Given the description of an element on the screen output the (x, y) to click on. 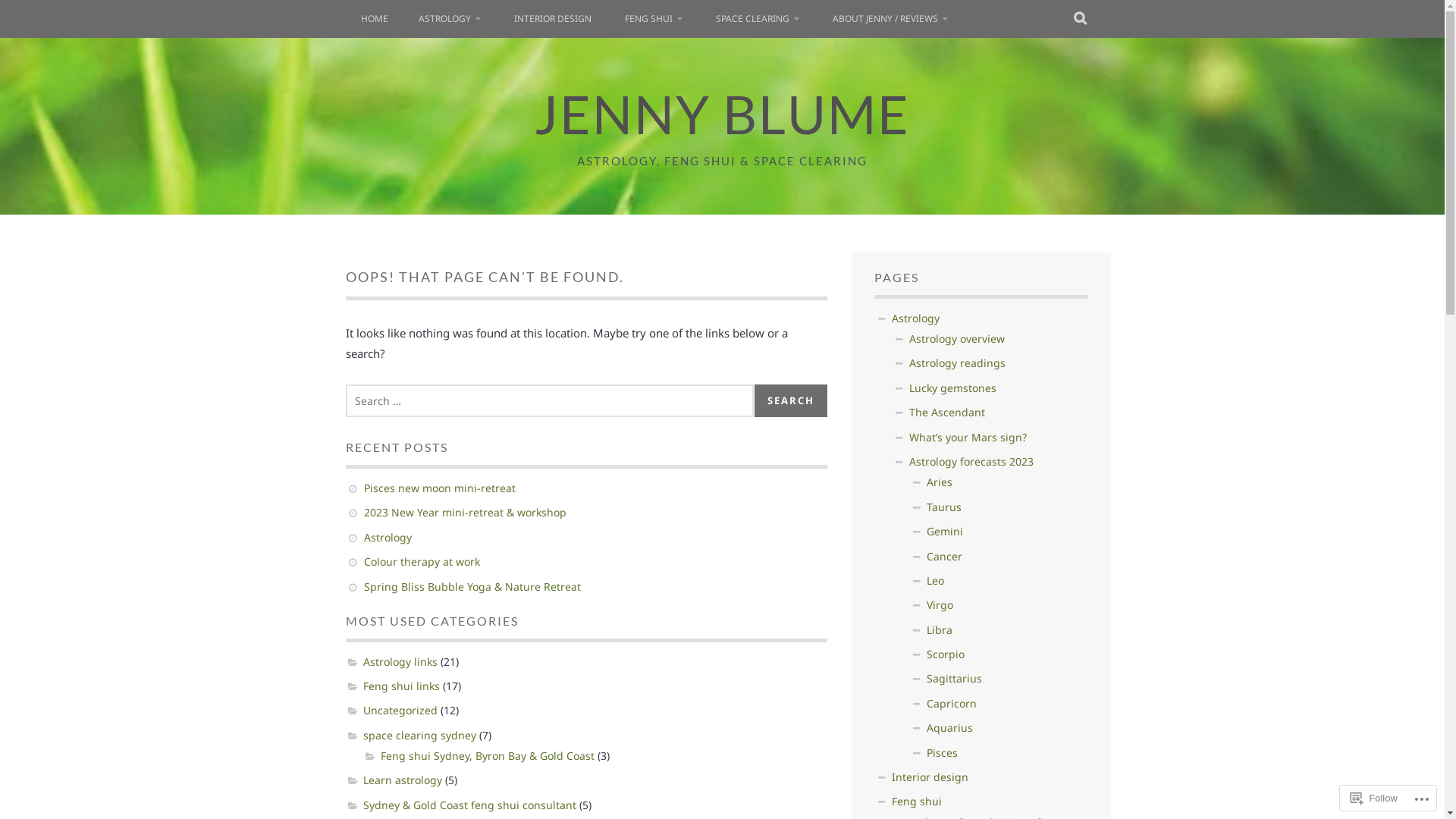
Colour therapy at work Element type: text (422, 561)
2023 New Year mini-retreat & workshop Element type: text (465, 512)
Gemini Element type: text (944, 531)
Follow Element type: text (1373, 797)
Astrology links Element type: text (399, 661)
INTERIOR DESIGN Element type: text (552, 18)
Pisces Element type: text (941, 752)
Search Element type: text (790, 400)
Learn astrology Element type: text (401, 779)
ABOUT JENNY / REVIEWS Element type: text (890, 18)
Astrology Element type: text (915, 317)
Astrology readings Element type: text (957, 362)
The Ascendant Element type: text (947, 411)
Astrology overview Element type: text (956, 338)
Sagittarius Element type: text (954, 678)
Astrology Element type: text (387, 537)
Pisces new moon mini-retreat Element type: text (439, 487)
Feng shui links Element type: text (400, 685)
Capricorn Element type: text (951, 703)
Aries Element type: text (939, 481)
Virgo Element type: text (939, 604)
Libra Element type: text (939, 629)
Lucky gemstones Element type: text (952, 387)
FENG SHUI Element type: text (653, 18)
Aquarius Element type: text (949, 727)
Astrology forecasts 2023 Element type: text (971, 461)
SPACE CLEARING Element type: text (757, 18)
Scorpio Element type: text (945, 653)
Feng shui Element type: text (916, 800)
Spring Bliss Bubble Yoga & Nature Retreat Element type: text (472, 586)
Cancer Element type: text (944, 556)
Interior design Element type: text (929, 776)
Sydney & Gold Coast feng shui consultant Element type: text (468, 804)
space clearing sydney Element type: text (418, 735)
Uncategorized Element type: text (399, 709)
HOME Element type: text (374, 18)
Taurus Element type: text (943, 506)
Leo Element type: text (935, 580)
ASTROLOGY Element type: text (449, 18)
JENNY BLUME Element type: text (722, 113)
Feng shui Sydney, Byron Bay & Gold Coast Element type: text (487, 755)
